Given the description of an element on the screen output the (x, y) to click on. 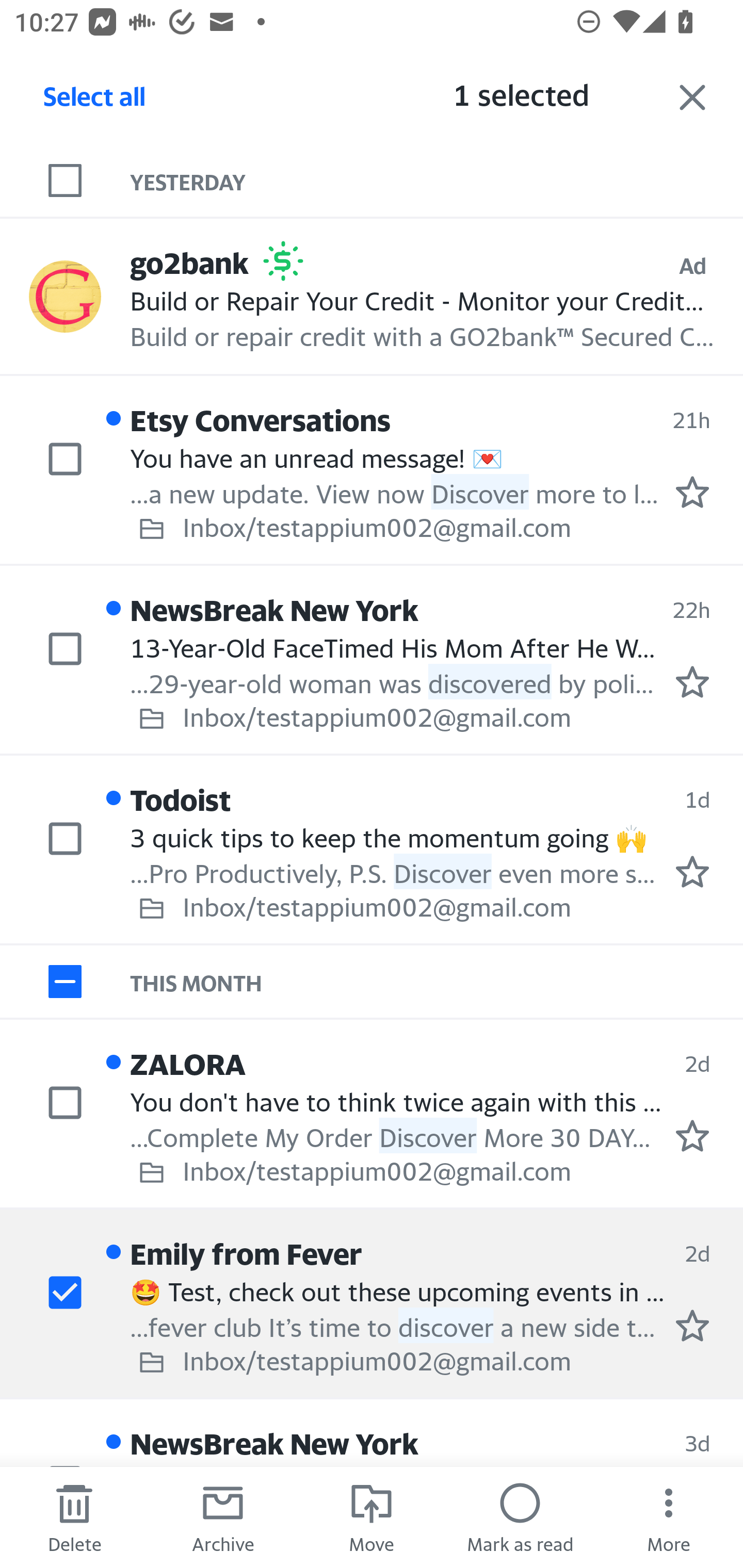
Exit selection mode (692, 97)
Select all (94, 101)
YESTERDAY (436, 180)
Sponsored (282, 260)
Ad (692, 265)
Mark as starred. (692, 491)
Mark as starred. (692, 681)
Mark as starred. (692, 870)
THIS MONTH (436, 981)
Mark as starred. (692, 1135)
Mark as starred. (692, 1325)
Delete (74, 1517)
Archive (222, 1517)
Move (371, 1517)
Mark as read (519, 1517)
More (668, 1517)
